Given the description of an element on the screen output the (x, y) to click on. 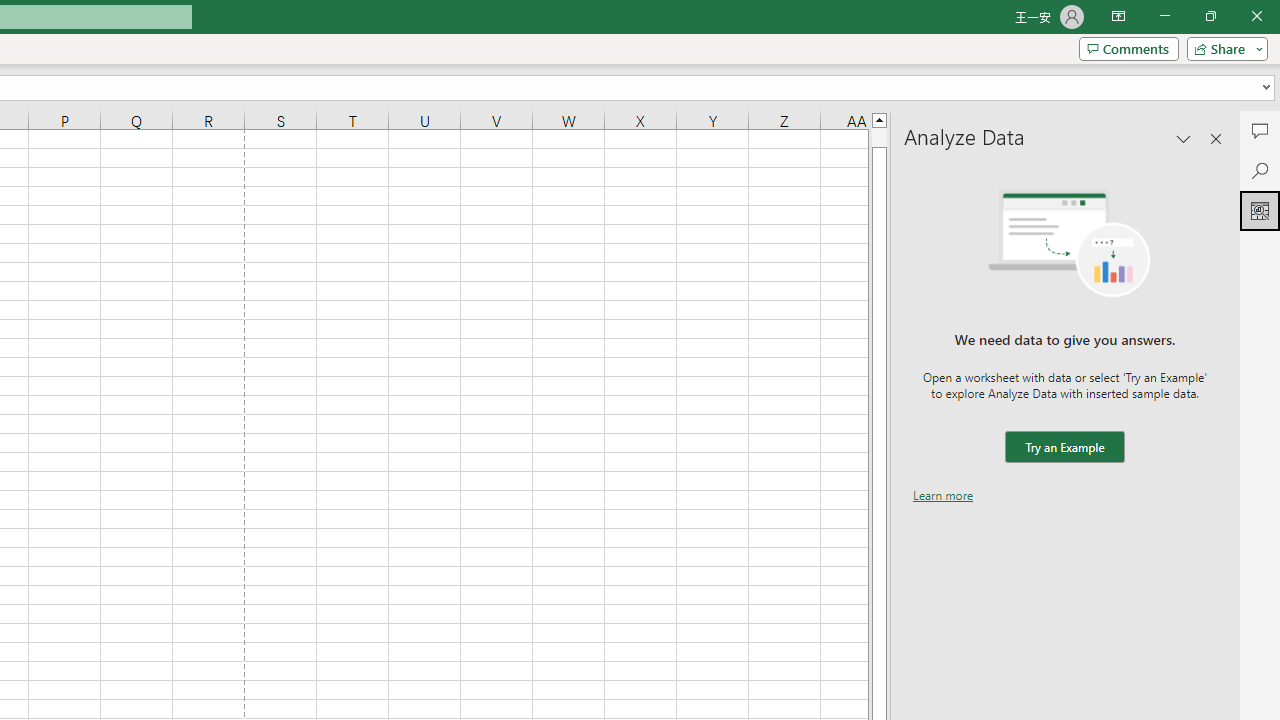
We need data to give you answers. Try an Example (1064, 447)
Task Pane Options (1183, 138)
Close pane (1215, 138)
Page up (879, 137)
Analyze Data (1260, 210)
Restore Down (1210, 16)
Learn more (943, 494)
Search (1260, 170)
